Given the description of an element on the screen output the (x, y) to click on. 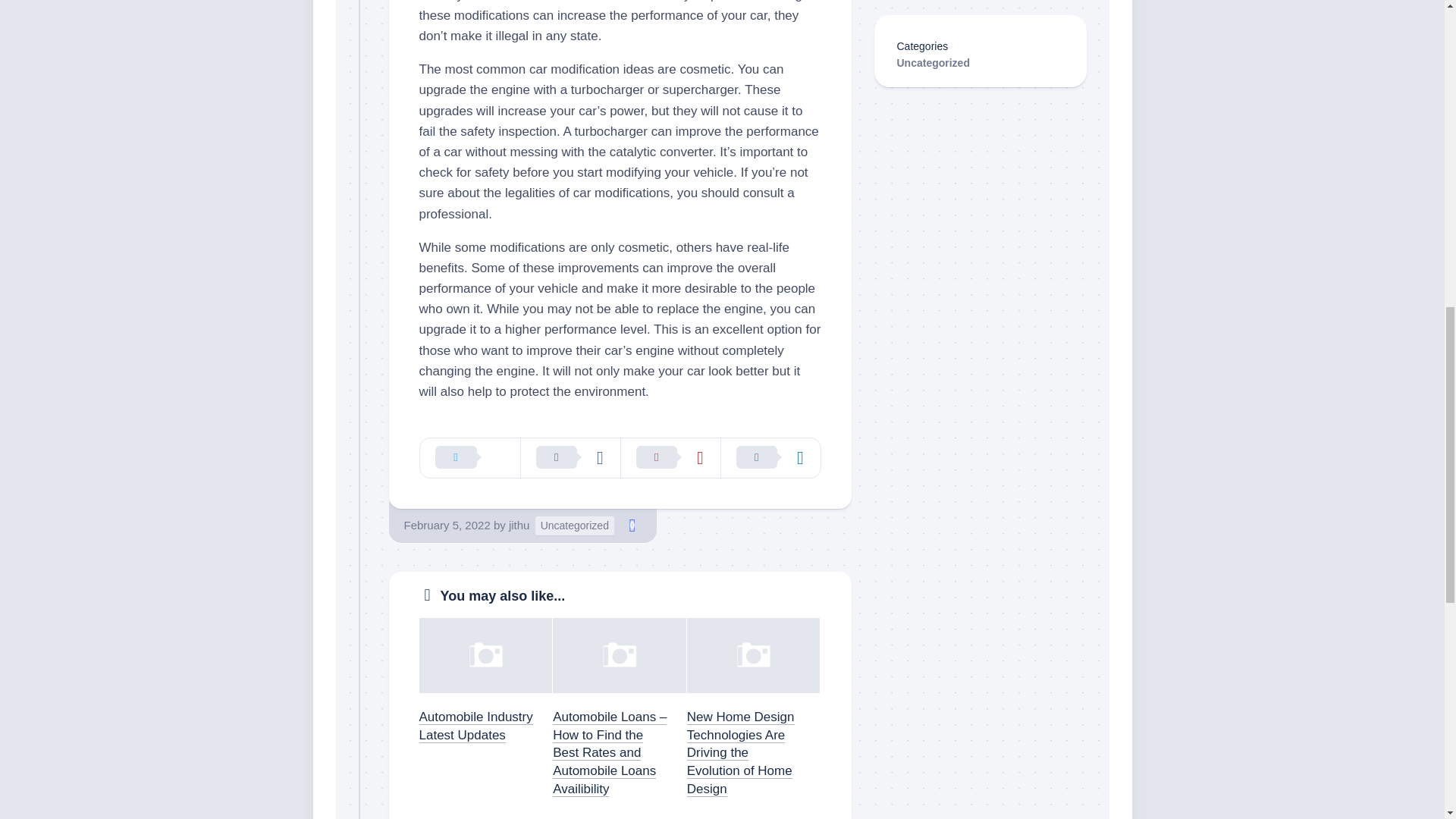
jithu (518, 524)
Share on X (469, 457)
Uncategorized (574, 525)
Share on Facebook (569, 457)
Share on Pinterest (670, 457)
Posts by jithu (518, 524)
Automobile Industry Latest Updates (475, 726)
0 (632, 525)
Share on LinkedIn (770, 457)
Uncategorized (932, 62)
